Given the description of an element on the screen output the (x, y) to click on. 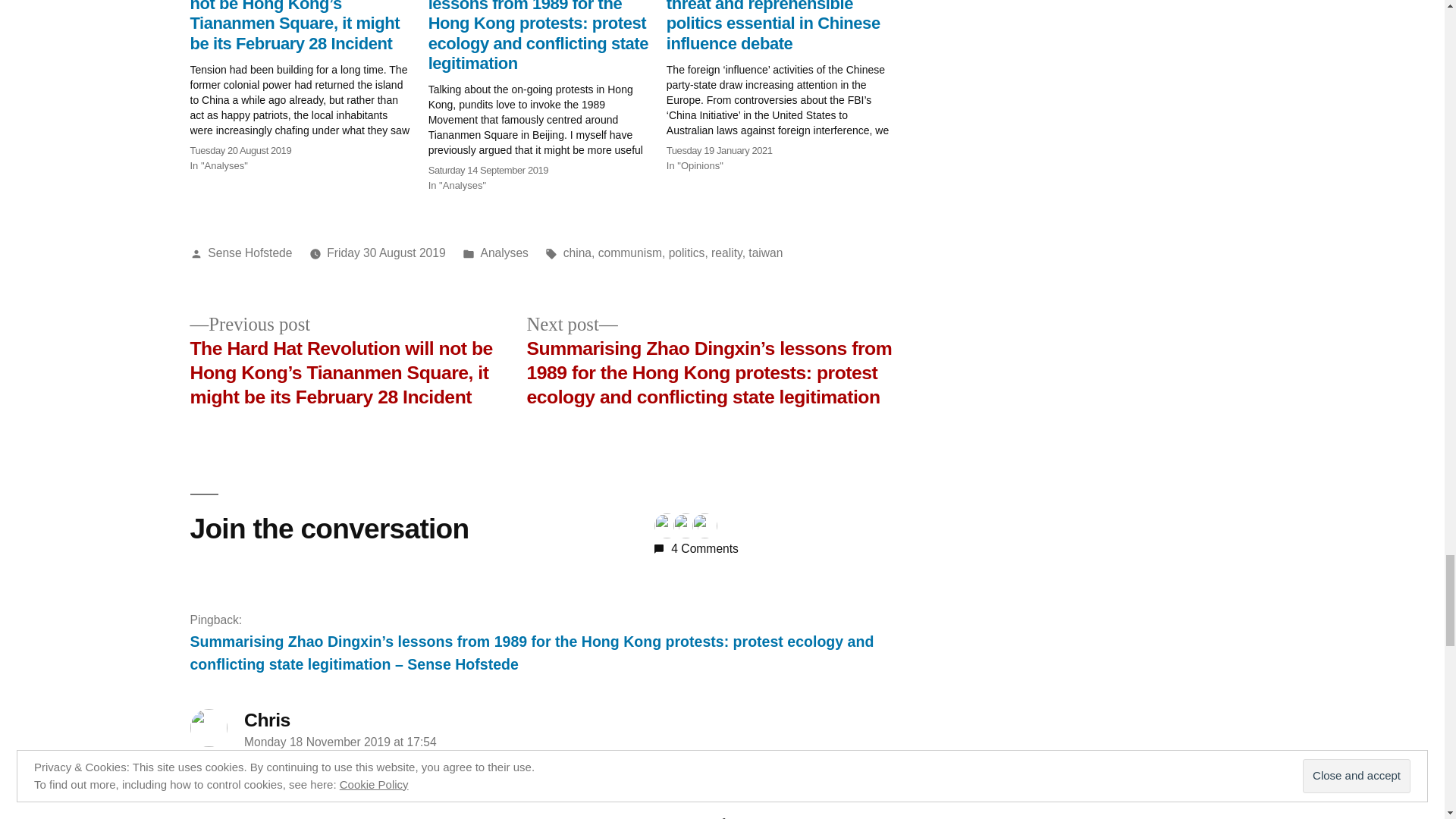
Friday 30 August 2019 (385, 252)
reality (726, 252)
Analyses (503, 252)
Sense Hofstede (250, 252)
communism (630, 252)
politics (686, 252)
taiwan (765, 252)
china (577, 252)
